Given the description of an element on the screen output the (x, y) to click on. 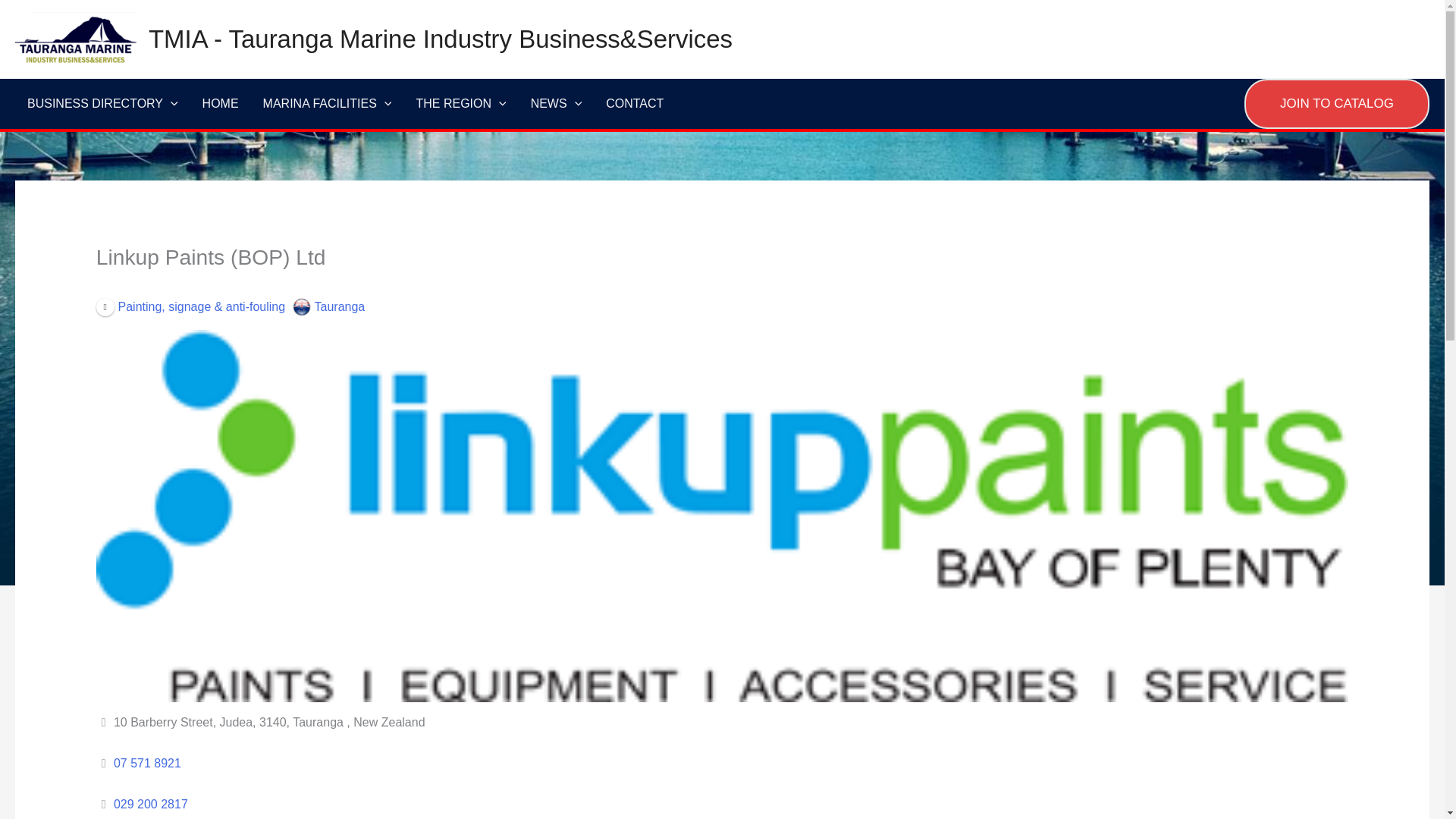
Tauranga (328, 305)
MARINA FACILITIES (327, 103)
HOME (220, 103)
THE REGION (460, 103)
BUSINESS DIRECTORY (102, 103)
